Given the description of an element on the screen output the (x, y) to click on. 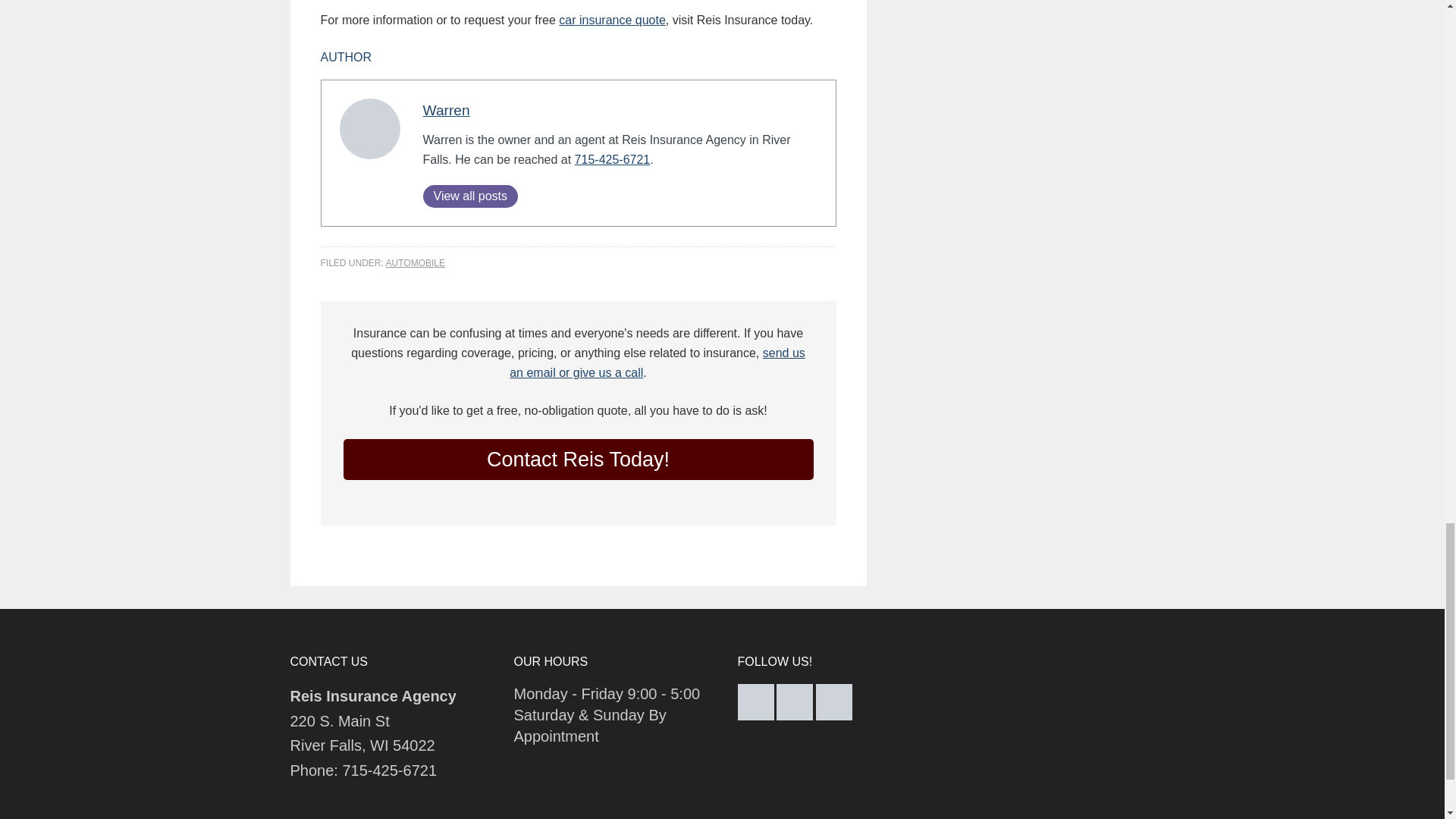
AUTOMOBILE (415, 262)
View all posts (470, 196)
Warren (446, 109)
car insurance quote (612, 19)
send us an email or give us a call (657, 362)
View all posts (470, 196)
Contact Reis Today! (577, 458)
Warren (446, 109)
715-425-6721 (612, 159)
